Given the description of an element on the screen output the (x, y) to click on. 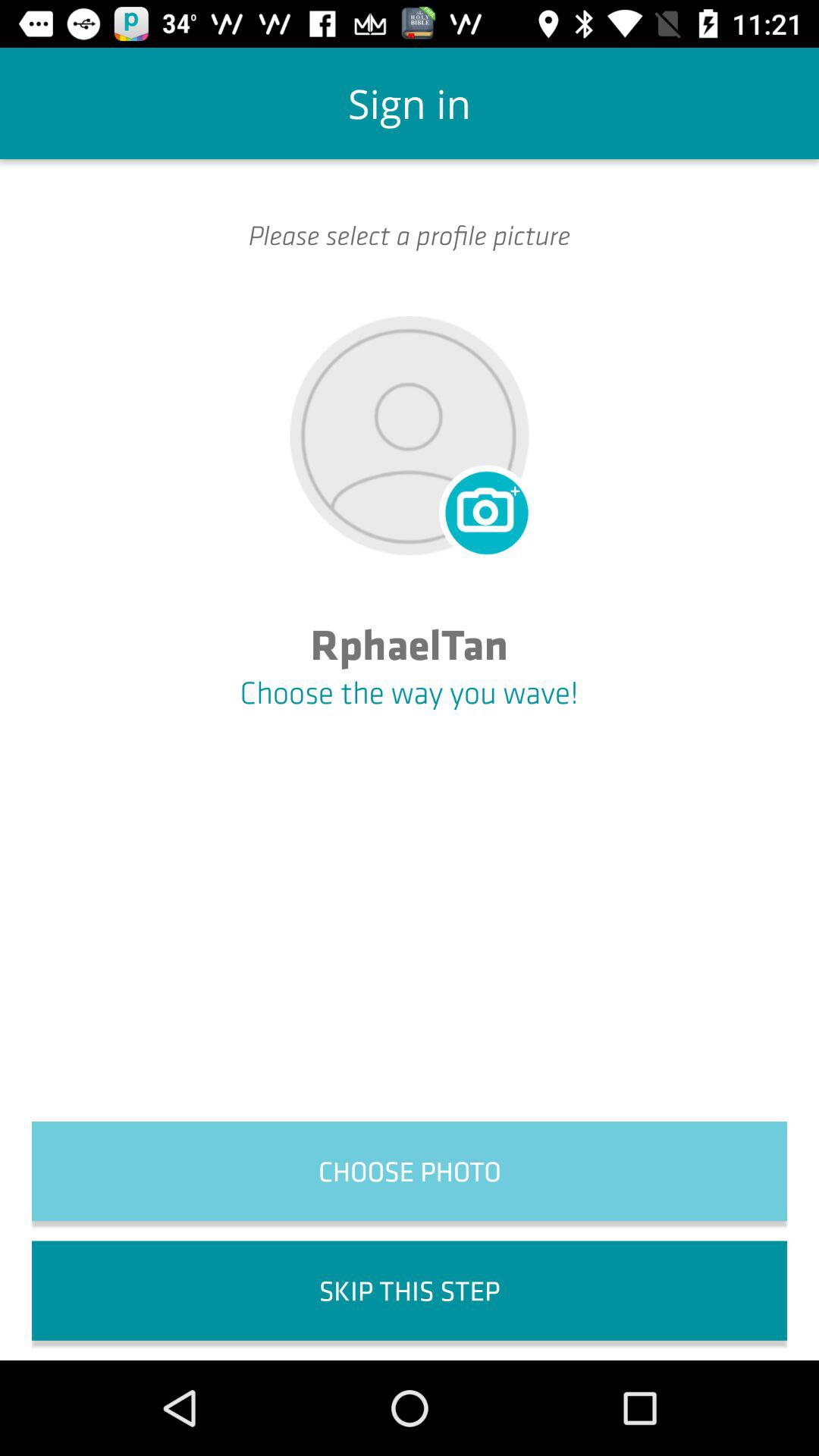
tap icon above skip this step item (409, 1171)
